Given the description of an element on the screen output the (x, y) to click on. 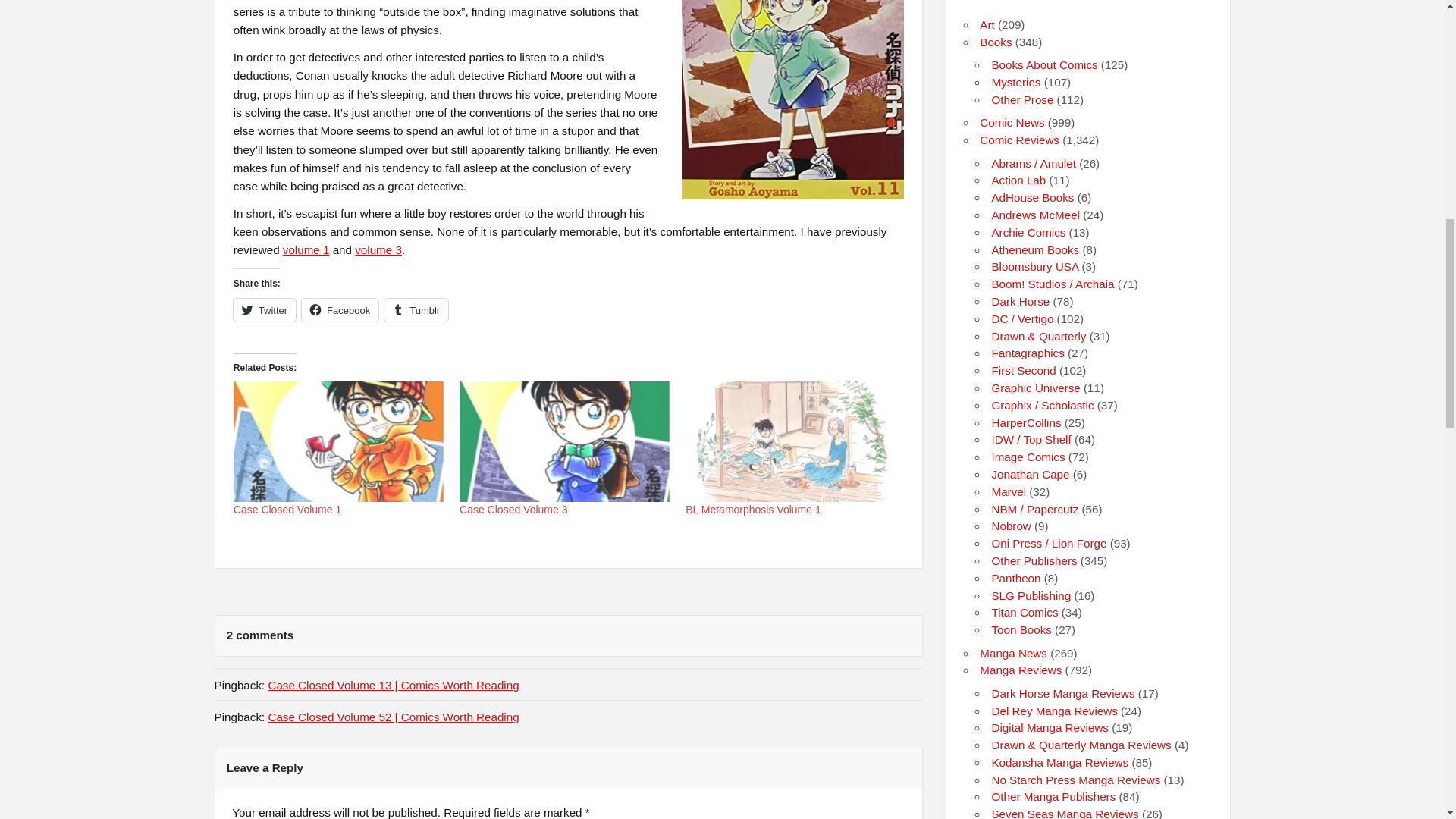
Twitter (263, 309)
Case Closed Volume 3 (513, 509)
Tumblr (416, 309)
BL Metamorphosis Volume 1 (753, 509)
Case Closed Volume 3 (513, 509)
Case Closed Volume 1 (286, 509)
Click to share on Facebook (339, 309)
BL Metamorphosis Volume 1 (753, 509)
Facebook (339, 309)
volume 3 (378, 249)
